Given the description of an element on the screen output the (x, y) to click on. 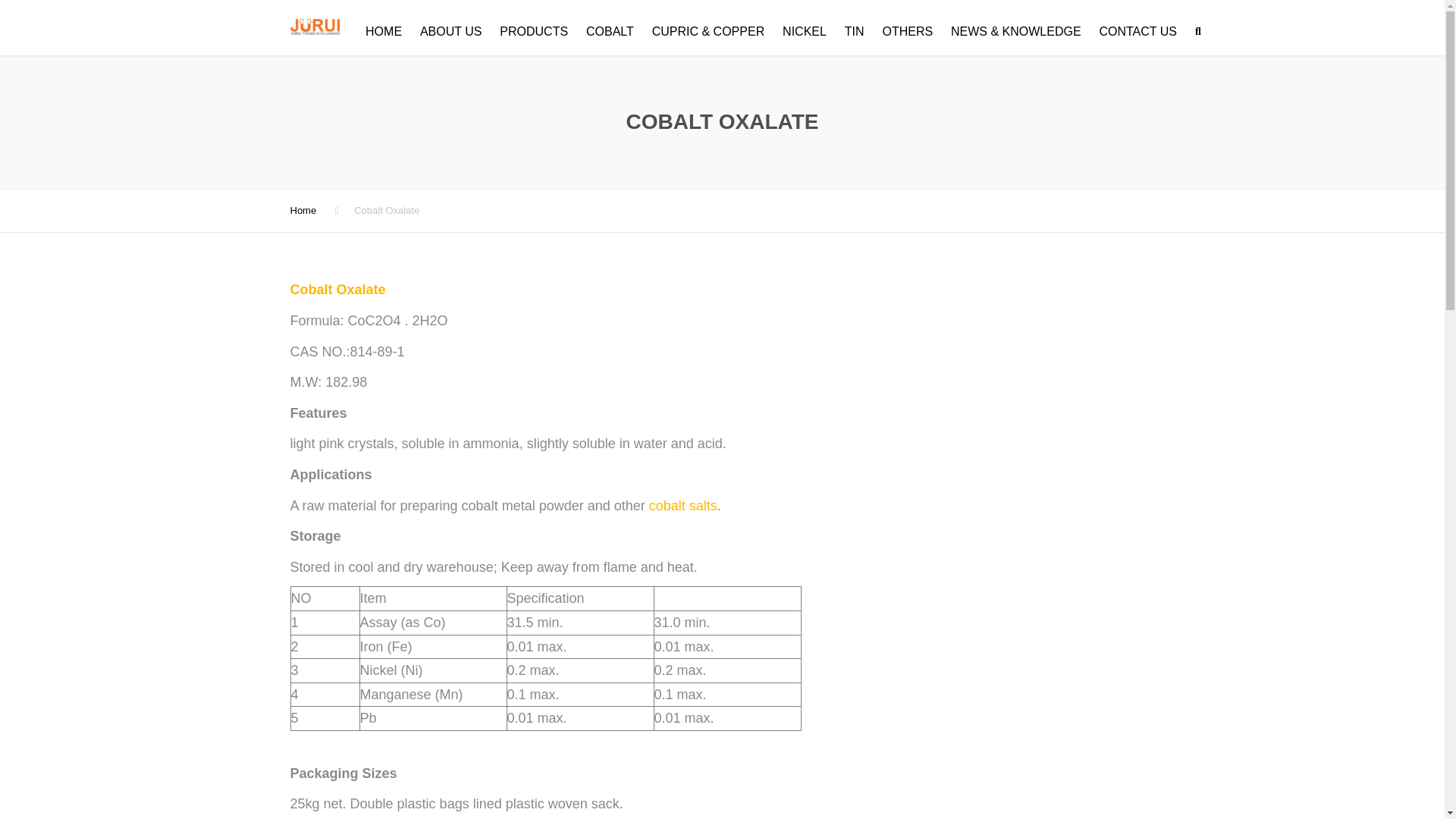
ABOUT US (450, 31)
PRODUCTS (533, 31)
HOME (383, 31)
